Given the description of an element on the screen output the (x, y) to click on. 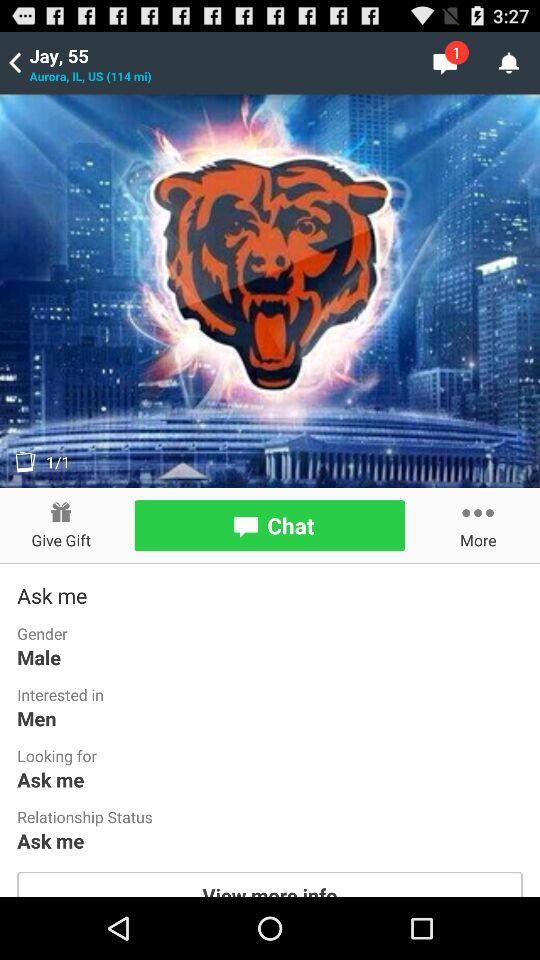
chat here (269, 525)
